Given the description of an element on the screen output the (x, y) to click on. 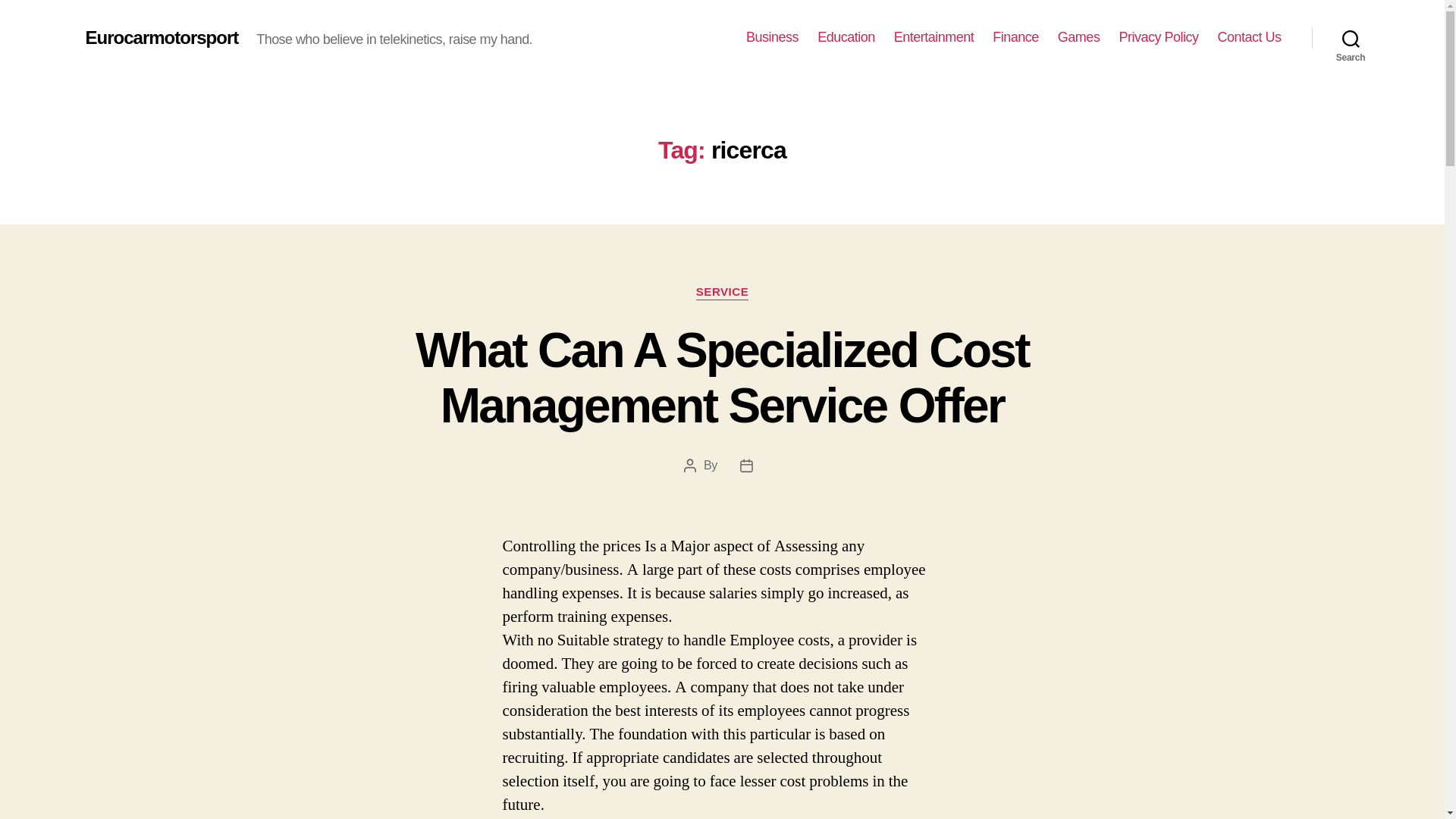
Games (1079, 37)
Entertainment (933, 37)
What Can A Specialized Cost Management Service Offer (721, 377)
Finance (1015, 37)
Business (771, 37)
SERVICE (721, 292)
Education (845, 37)
Eurocarmotorsport (161, 37)
Contact Us (1249, 37)
Privacy Policy (1158, 37)
Search (1350, 37)
